Given the description of an element on the screen output the (x, y) to click on. 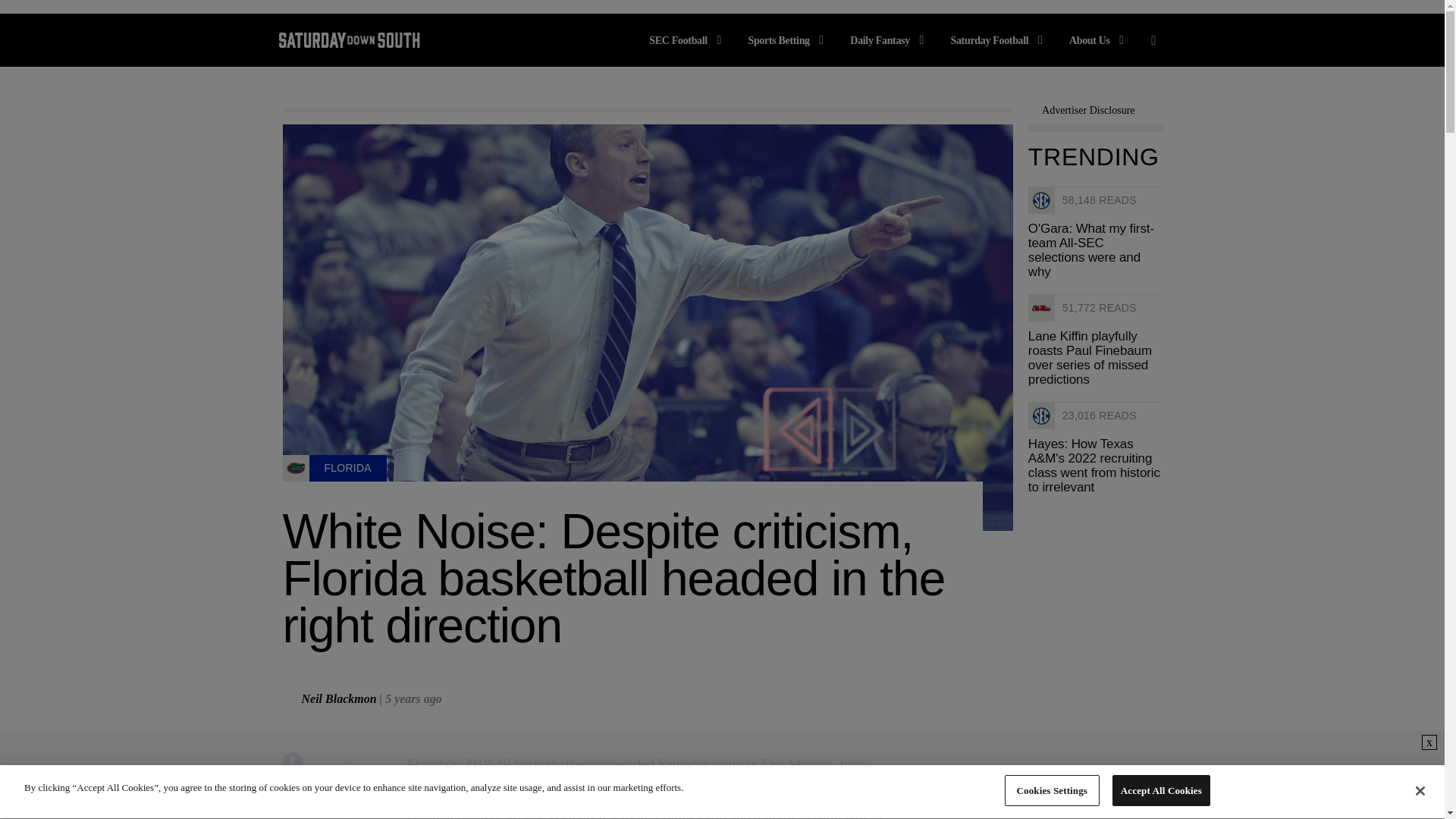
SEC Football (687, 39)
